Given the description of an element on the screen output the (x, y) to click on. 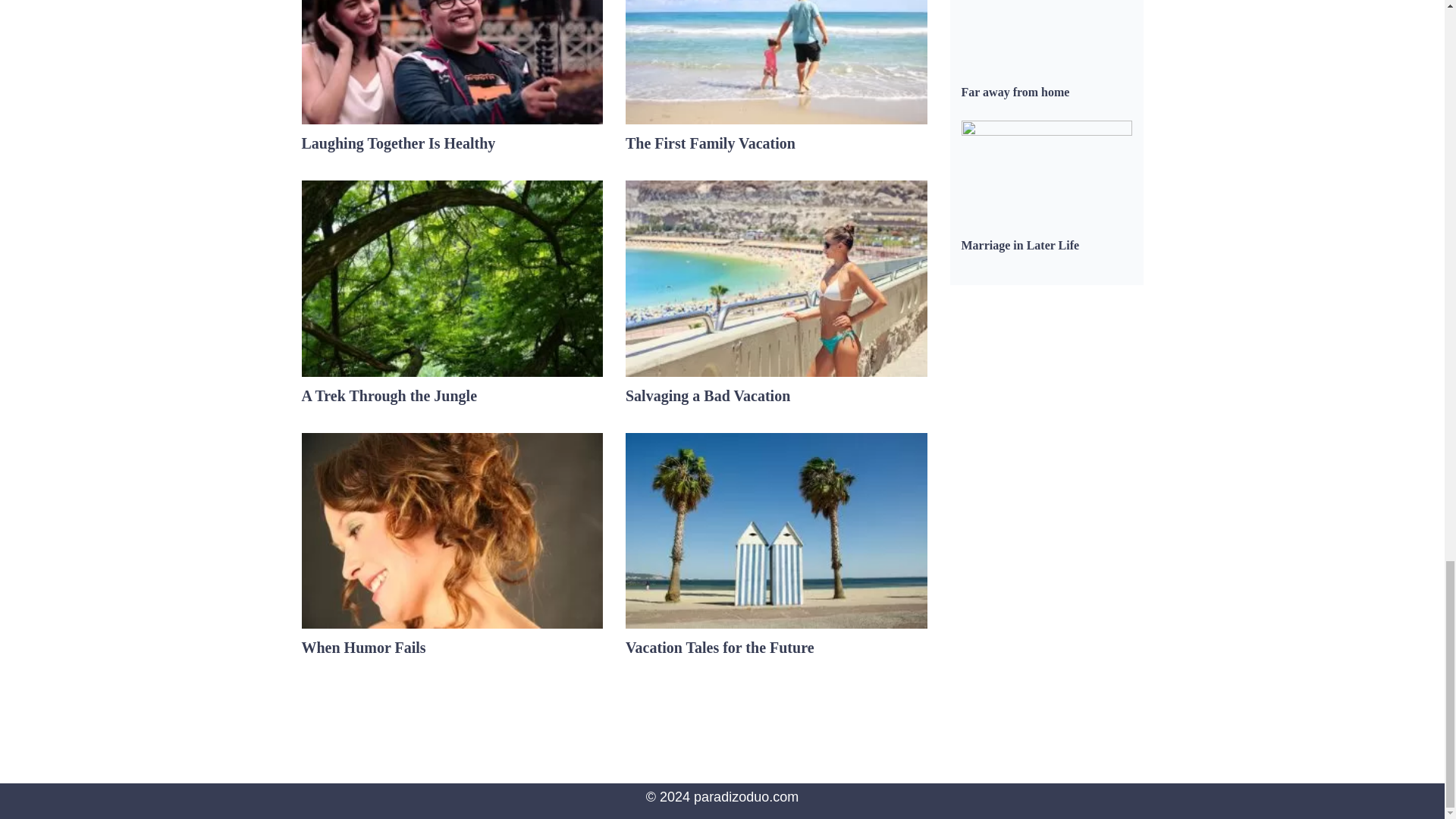
The First Family Vacation (710, 143)
Salvaging a Bad Vacation (708, 395)
Vacation Tales for the Future (719, 647)
Laughing Together Is Healthy (398, 143)
A Trek Through the Jungle (389, 395)
When Humor Fails (363, 647)
